Given the description of an element on the screen output the (x, y) to click on. 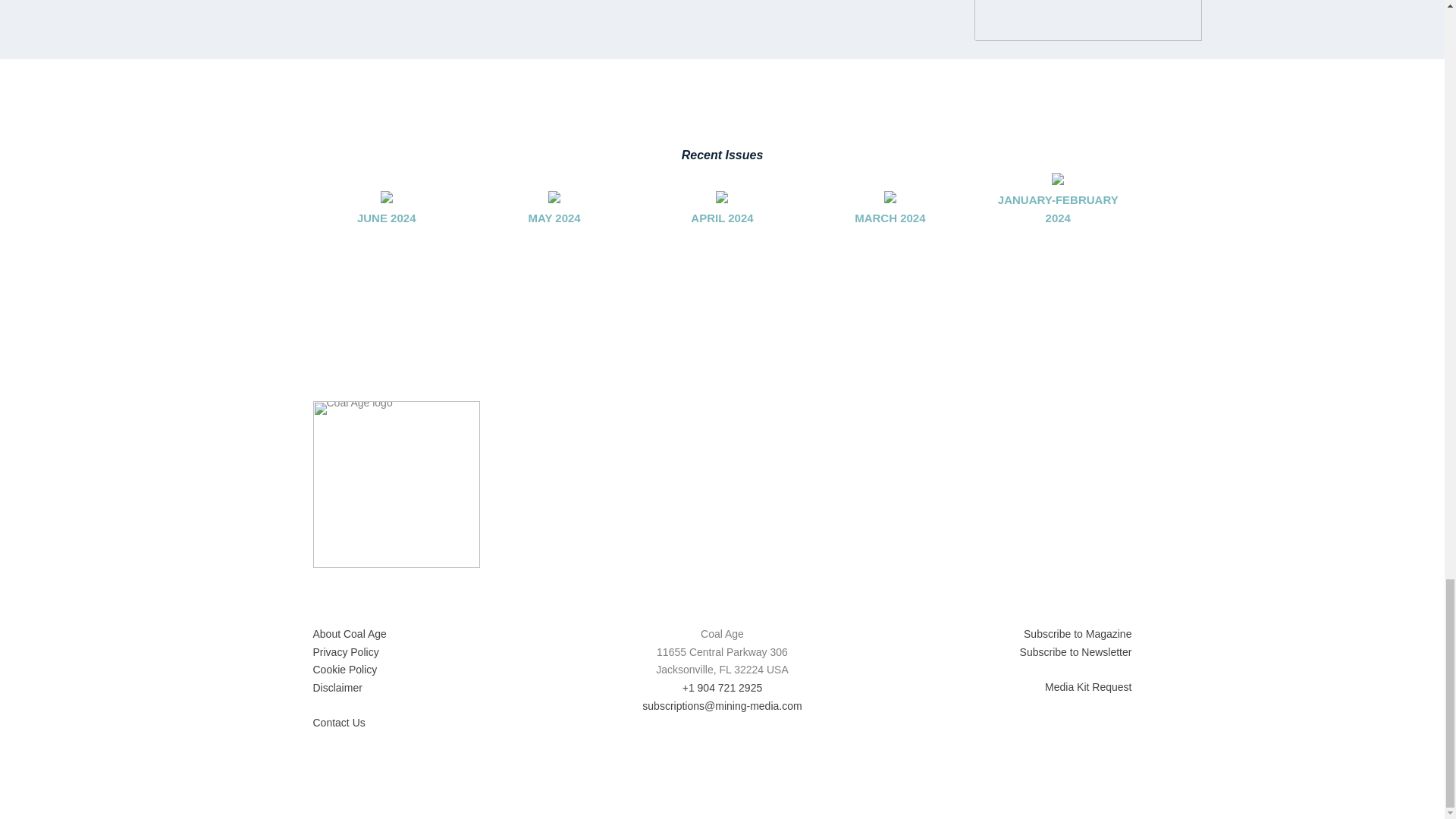
Coal Age logo (396, 484)
